Given the description of an element on the screen output the (x, y) to click on. 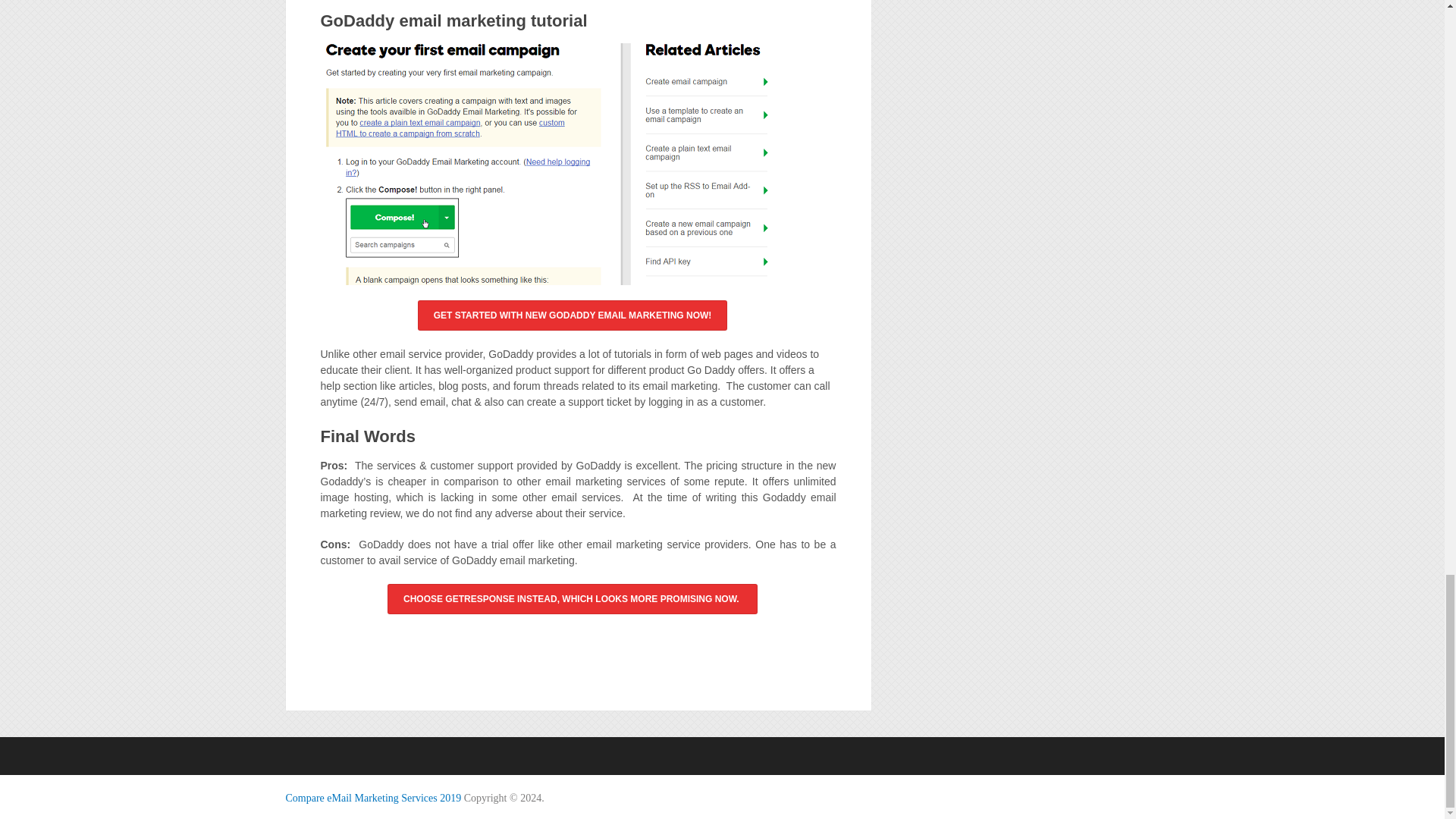
 Best email marketing service comparisons and reviews. (373, 797)
